Given the description of an element on the screen output the (x, y) to click on. 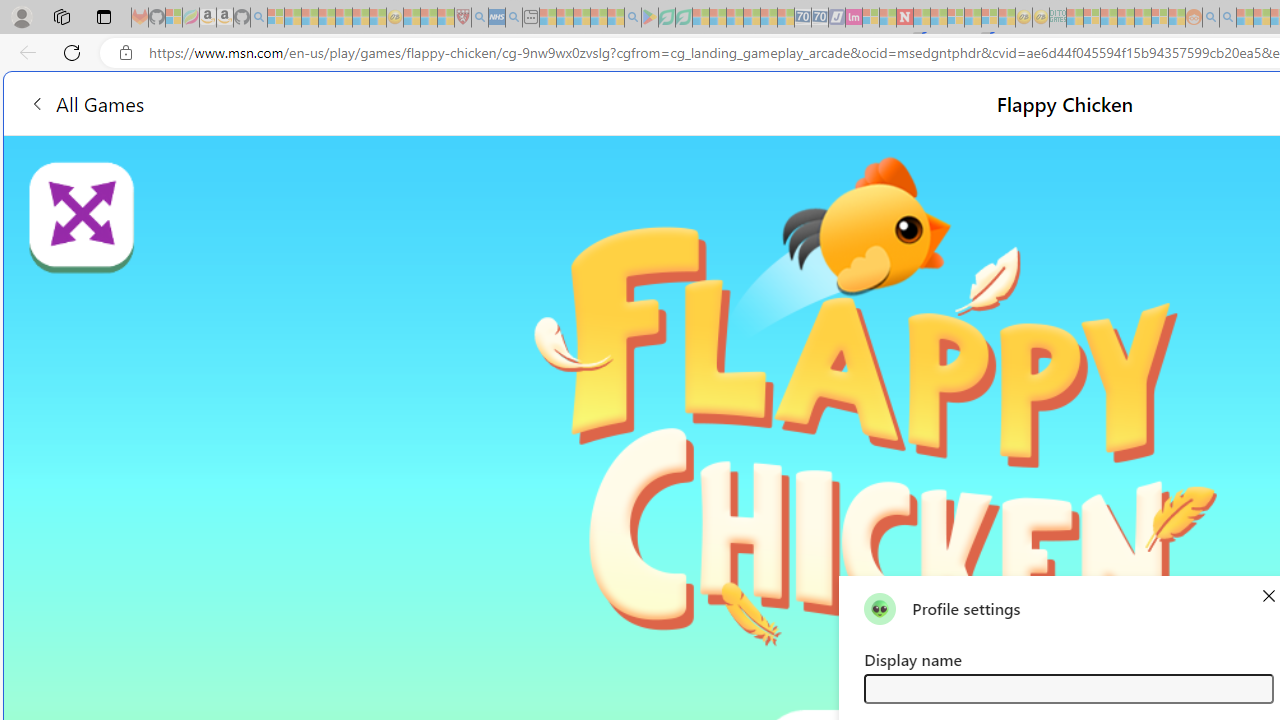
""'s avatar (880, 608)
google - Search - Sleeping (632, 17)
Class: text-input (1068, 688)
